Given the description of an element on the screen output the (x, y) to click on. 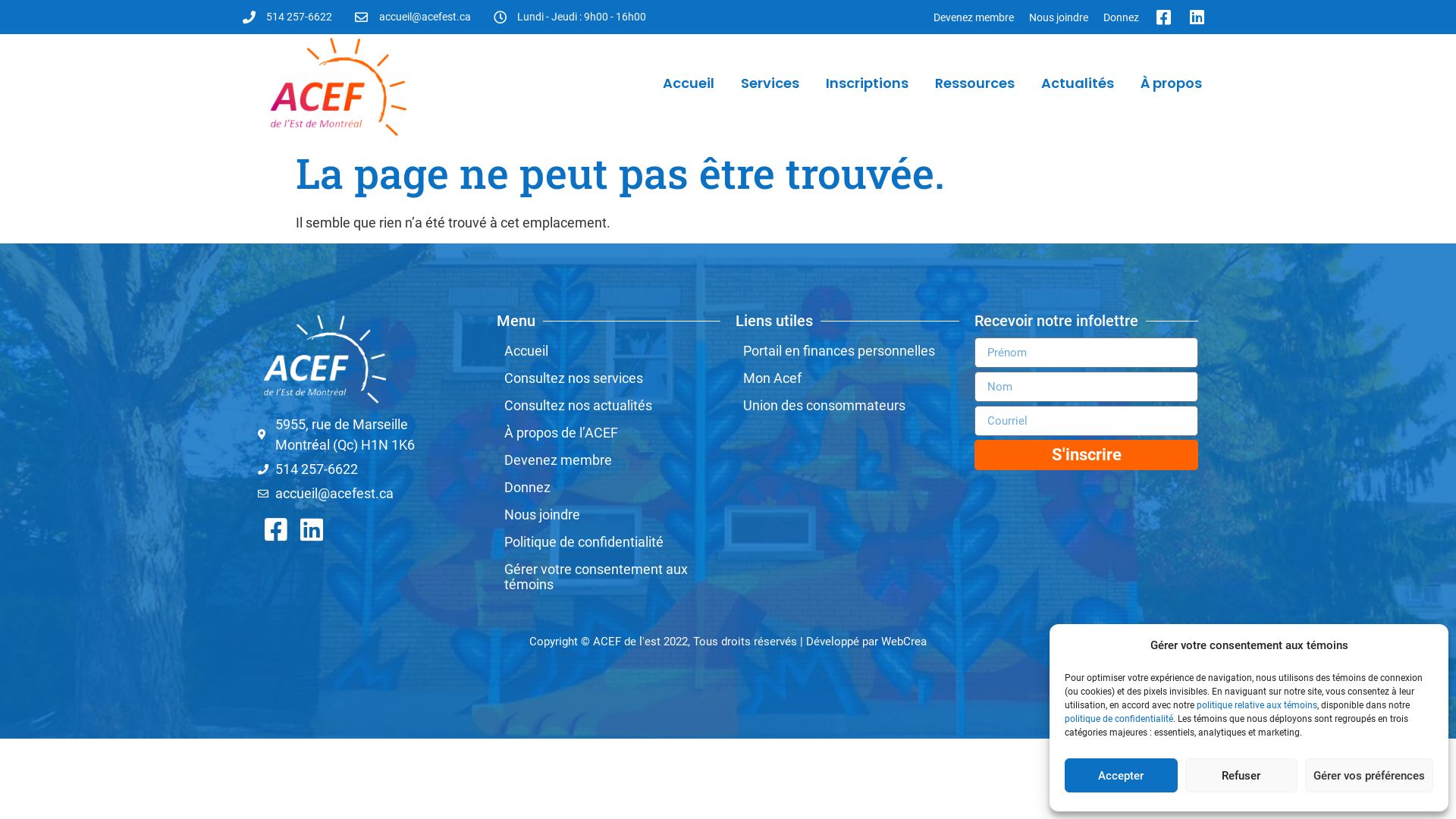
514 257-6622 Element type: text (369, 468)
Services Element type: text (769, 83)
Refuser Element type: text (1240, 775)
Accueil Element type: text (688, 83)
Accueil Element type: text (608, 350)
Donnez Element type: text (1120, 16)
S'inscrire Element type: text (1086, 454)
Mon Acef Element type: text (847, 378)
accueil@acefest.ca Element type: text (369, 493)
Ressources Element type: text (974, 83)
Devenez membre Element type: text (973, 16)
Inscriptions Element type: text (866, 83)
accueil@acefest.ca Element type: text (412, 16)
Consultez nos services Element type: text (608, 378)
Nous joindre Element type: text (1058, 16)
Donnez Element type: text (608, 487)
Portail en finances personnelles Element type: text (847, 350)
Union des consommateurs Element type: text (847, 405)
Accepter Element type: text (1120, 775)
Nous joindre Element type: text (608, 514)
Devenez membre Element type: text (608, 459)
514 257-6622 Element type: text (287, 16)
